Given the description of an element on the screen output the (x, y) to click on. 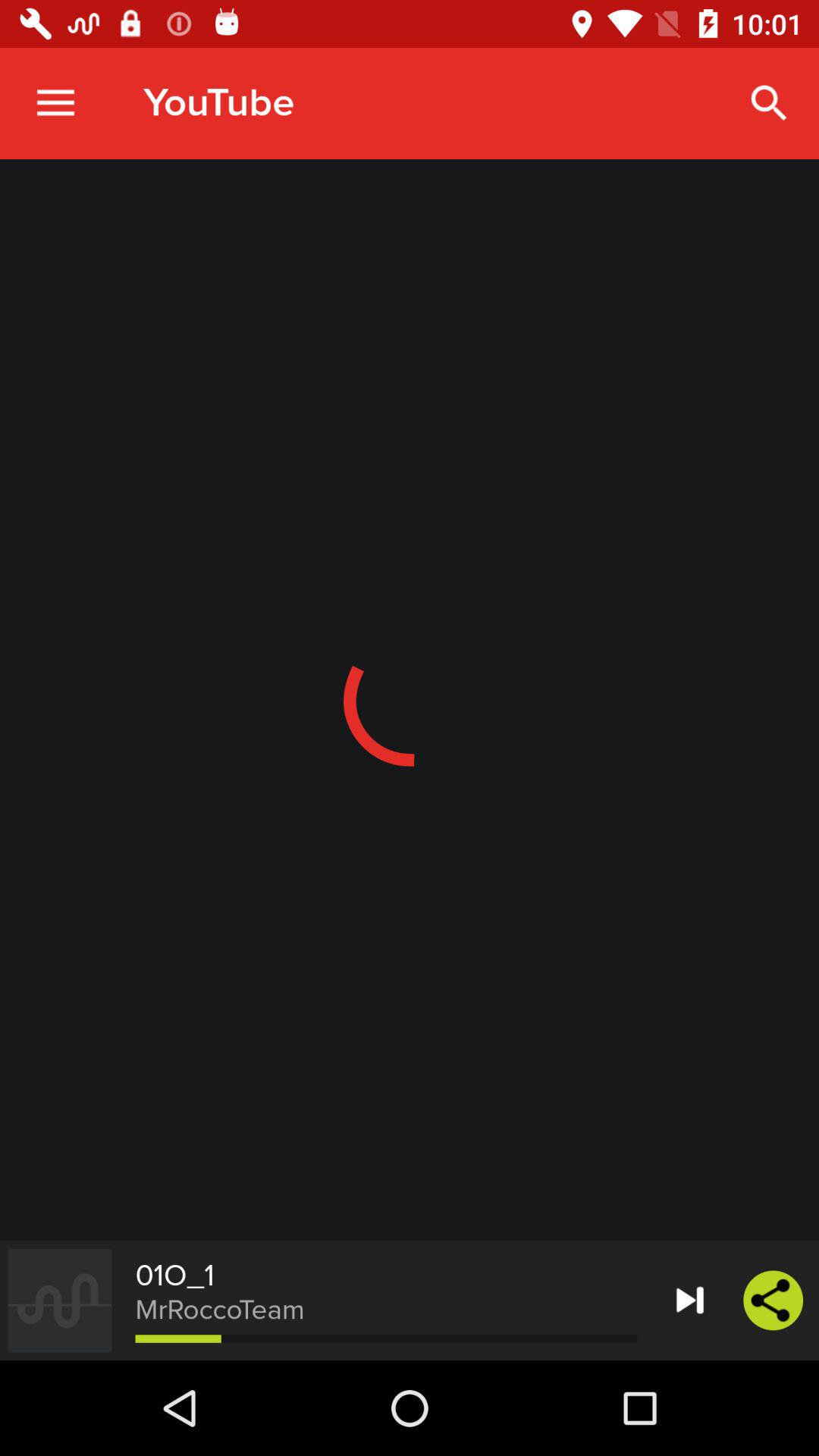
open item to the left of youtube (55, 103)
